Given the description of an element on the screen output the (x, y) to click on. 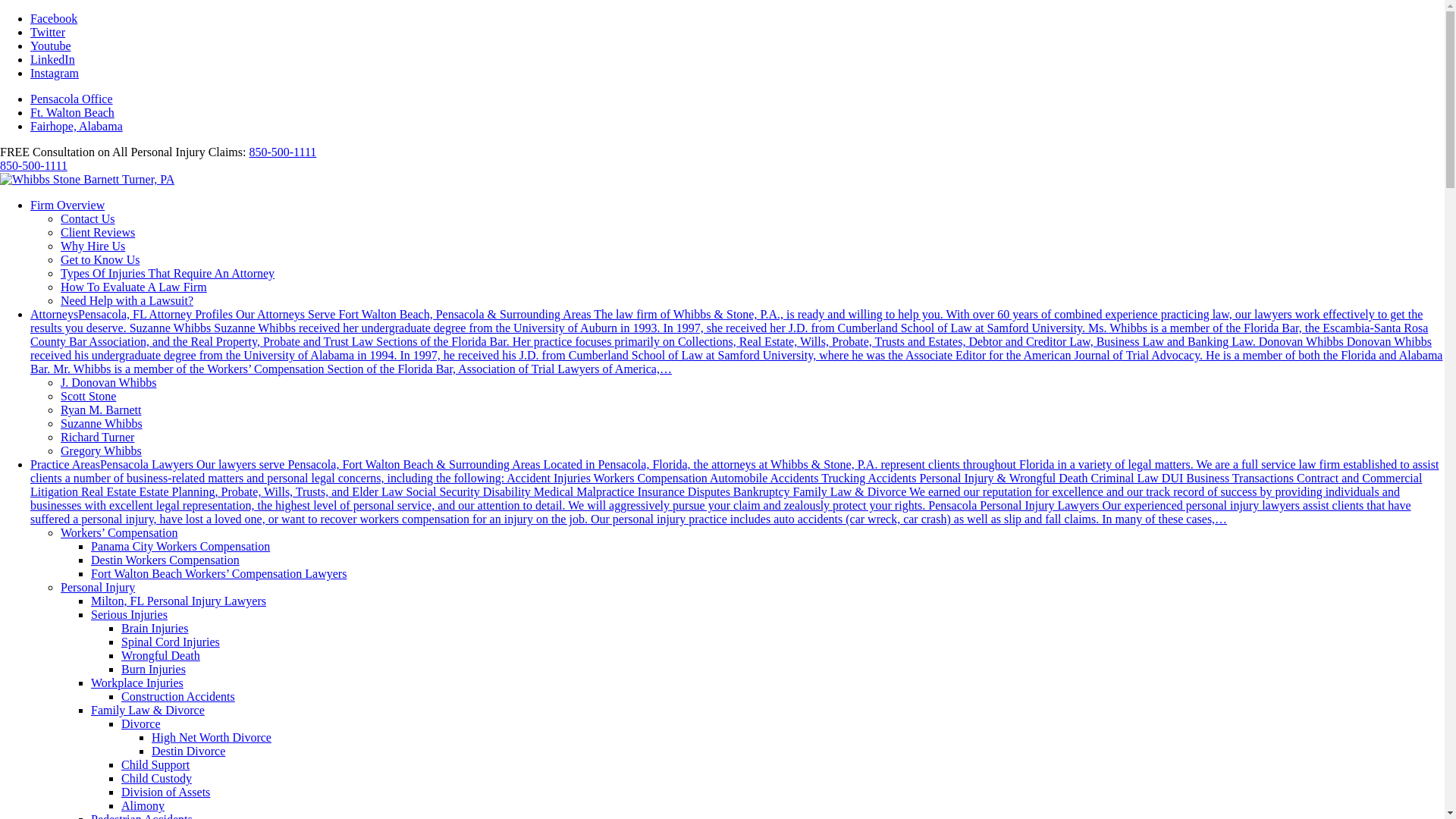
Youtube (50, 45)
Destin Workers Compensation (165, 559)
Types Of Injuries That Require An Attorney (168, 273)
LinkedIn (52, 59)
Instagram (54, 72)
Milton, FL Personal Injury Lawyers (178, 600)
LinkedIn (52, 59)
Need Help with a Lawsuit? (127, 300)
Contact Us (88, 218)
Facebook (53, 18)
Suzanne Whibbs (101, 422)
Ryan M. Barnett (101, 409)
Get to Know Us (100, 259)
How To Evaluate A Law Firm (133, 286)
J. Donovan Whibbs (108, 382)
